Given the description of an element on the screen output the (x, y) to click on. 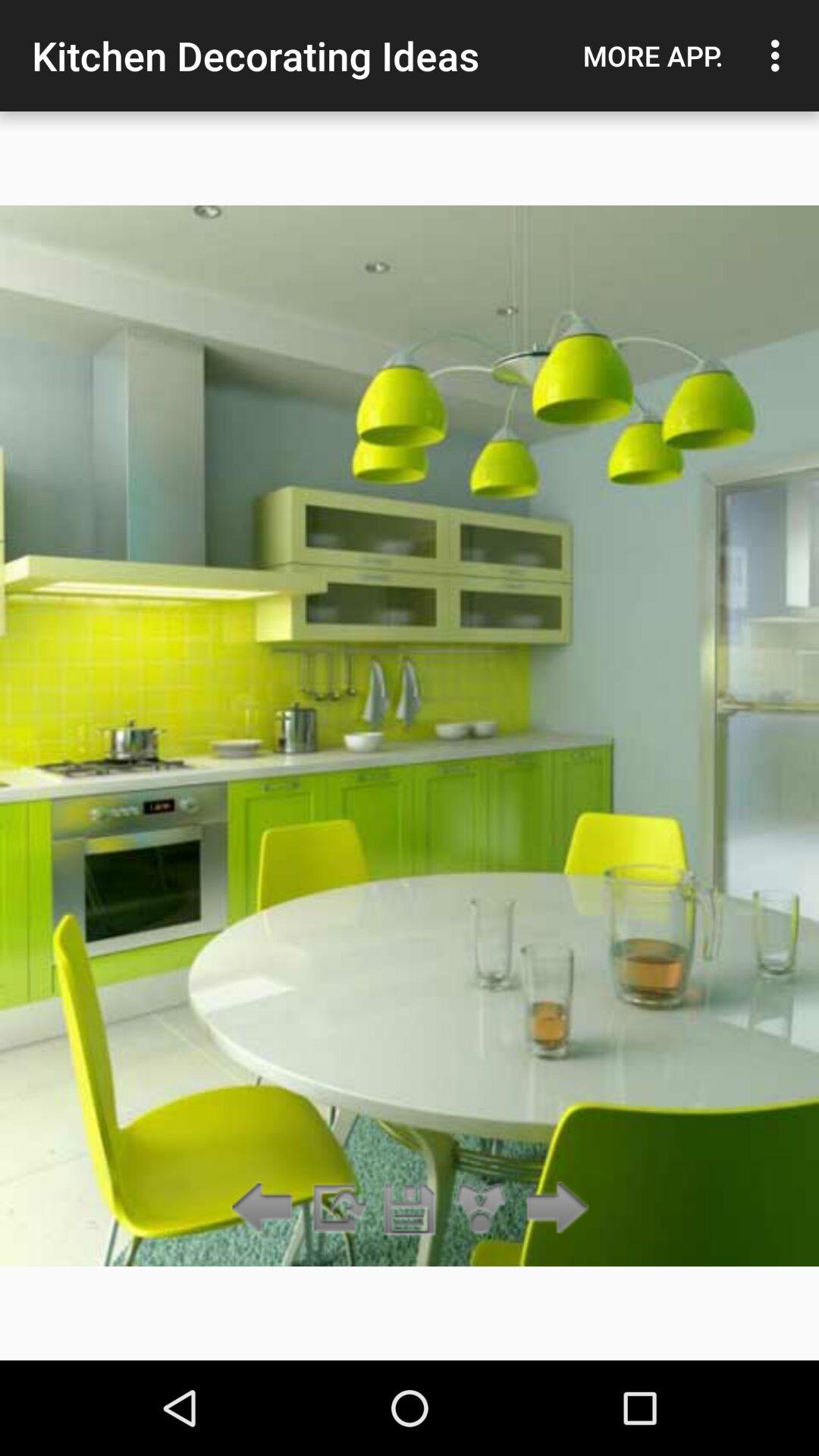
press more app. item (653, 55)
